Given the description of an element on the screen output the (x, y) to click on. 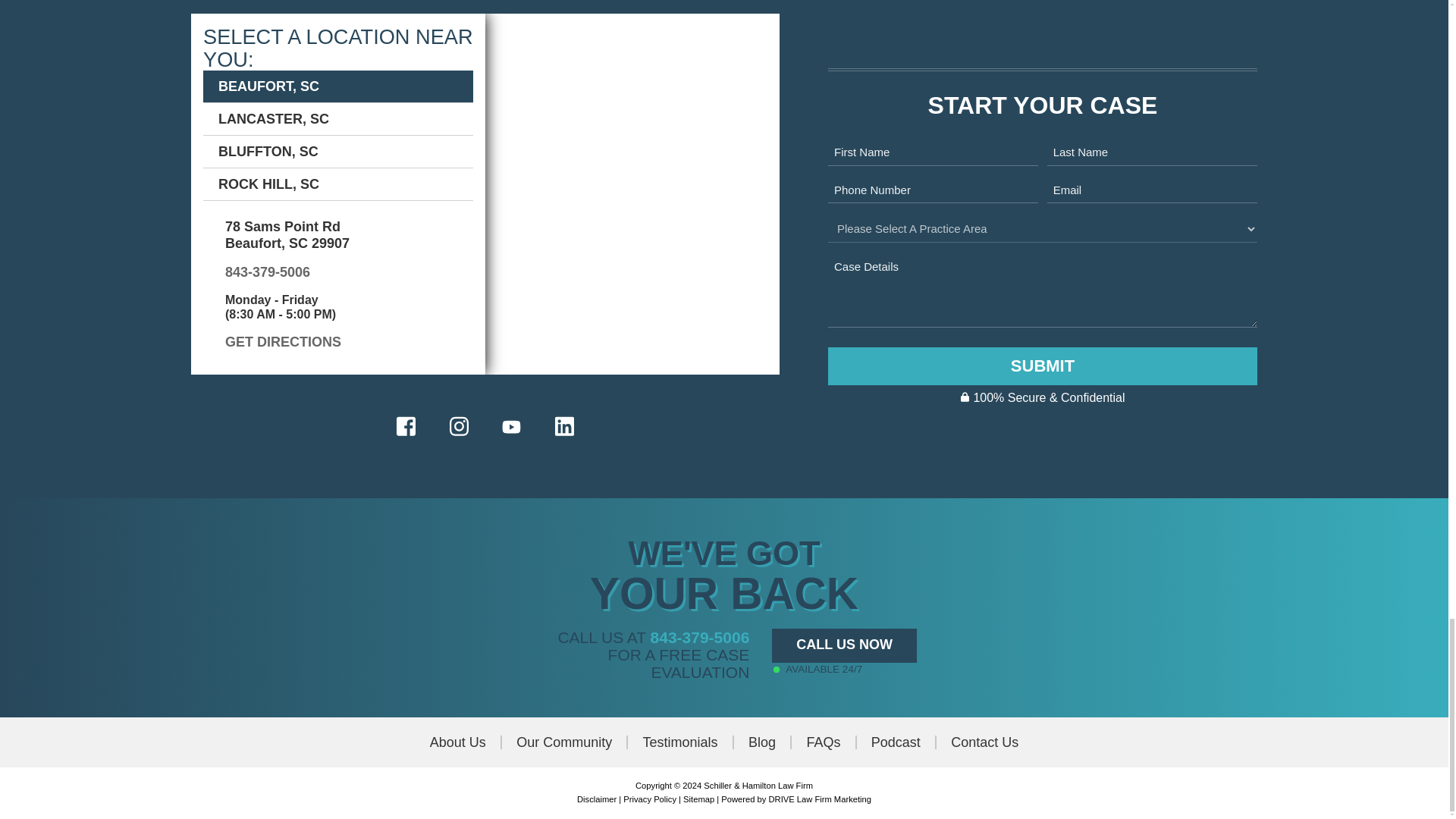
Instagram (458, 426)
Youtube (510, 426)
LinkedIn (564, 426)
Facebook (406, 426)
